Given the description of an element on the screen output the (x, y) to click on. 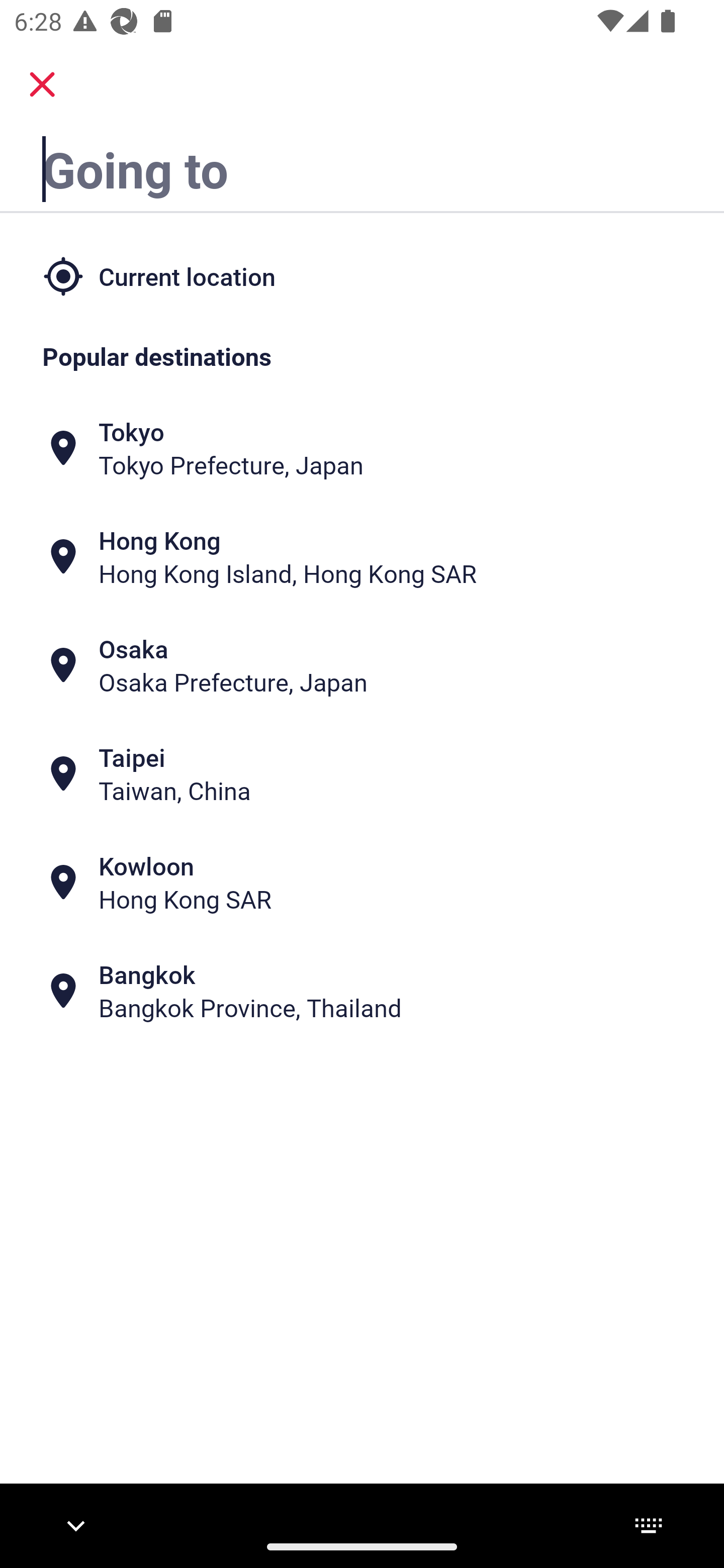
close. (42, 84)
Current location (362, 275)
Tokyo Tokyo Prefecture, Japan (362, 448)
Hong Kong Hong Kong Island, Hong Kong SAR (362, 557)
Osaka Osaka Prefecture, Japan (362, 665)
Taipei Taiwan, China (362, 773)
Kowloon Hong Kong SAR (362, 881)
Bangkok Bangkok Province, Thailand (362, 990)
